Given the description of an element on the screen output the (x, y) to click on. 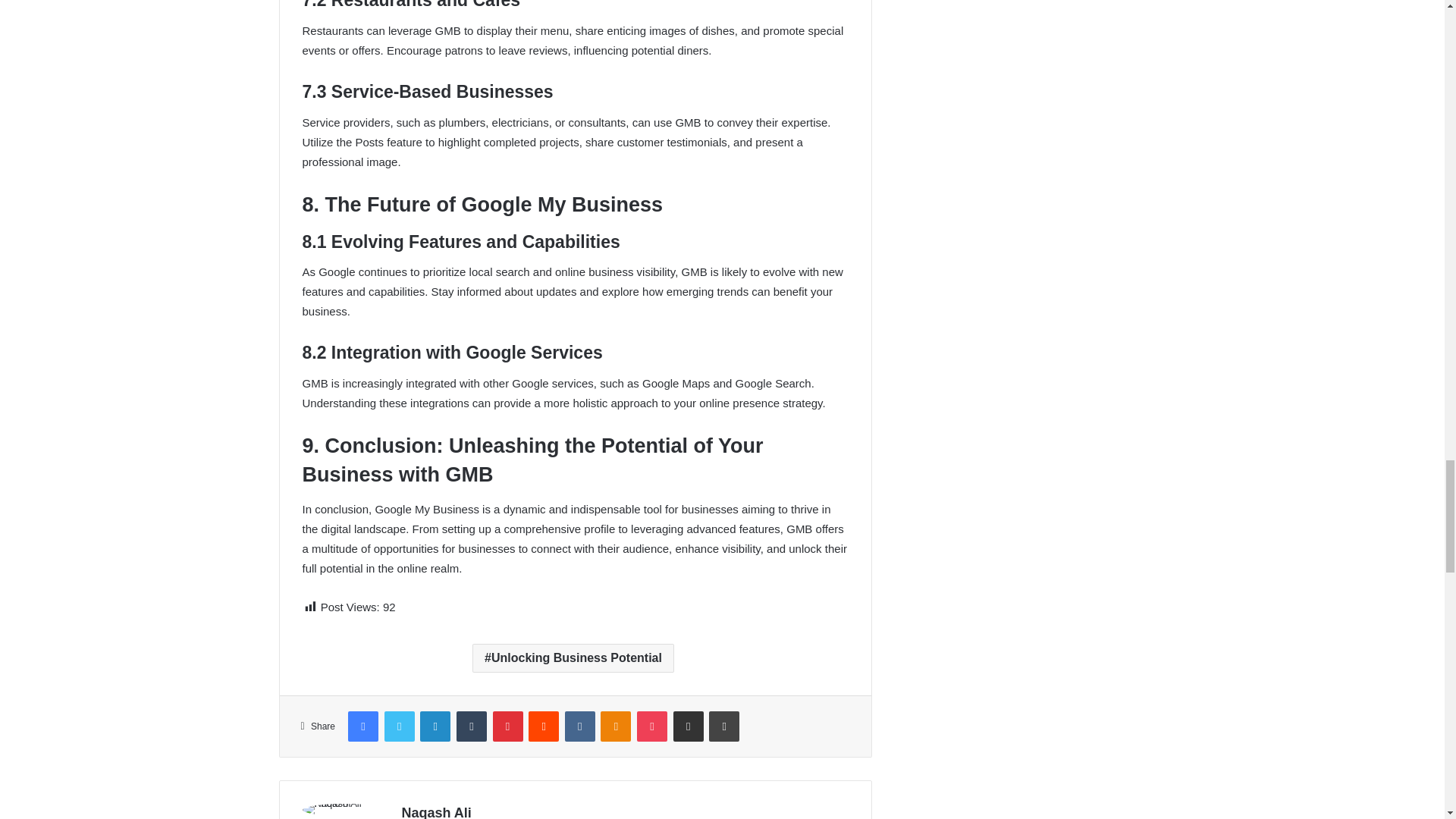
Unlocking Business Potential (572, 657)
